Given the description of an element on the screen output the (x, y) to click on. 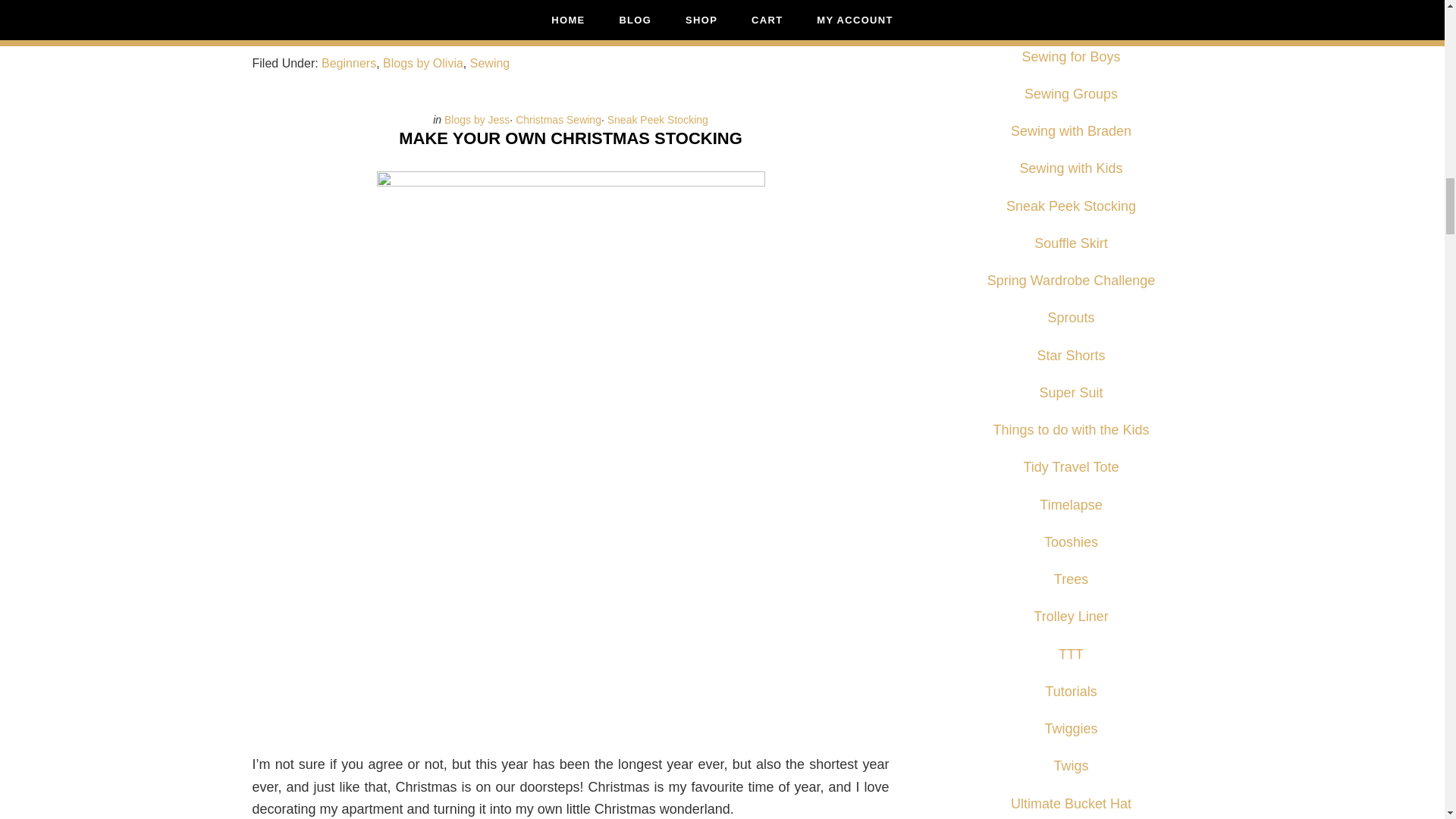
Blogs by Olivia (422, 62)
Beginners (348, 62)
MAKE YOUR OWN CHRISTMAS STOCKING (570, 138)
Christmas Sewing (558, 119)
Blogs by Jess (476, 119)
Sewing (489, 62)
Sneak Peek Stocking (657, 119)
